Given the description of an element on the screen output the (x, y) to click on. 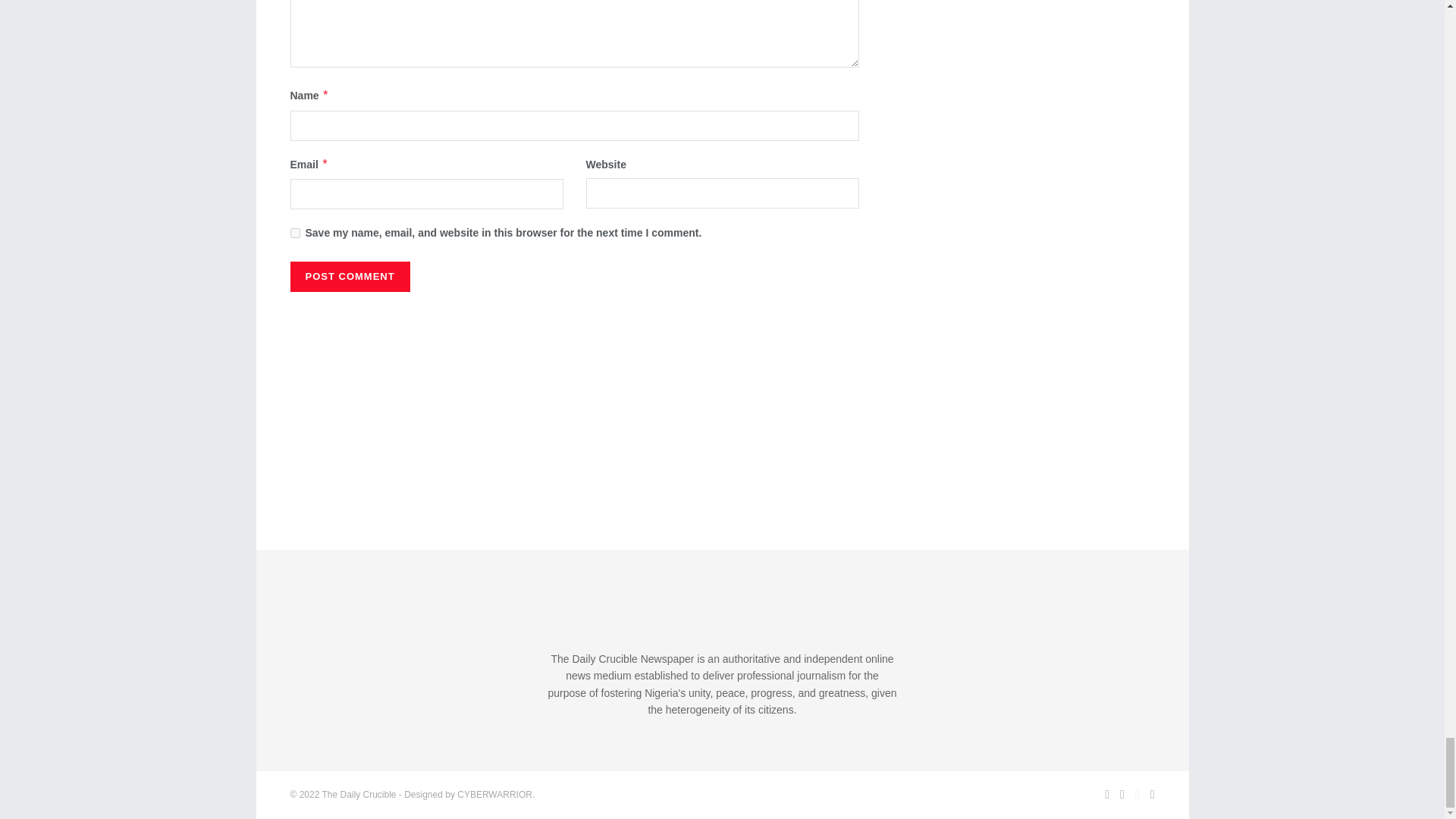
Post Comment (349, 276)
yes (294, 233)
